Given the description of an element on the screen output the (x, y) to click on. 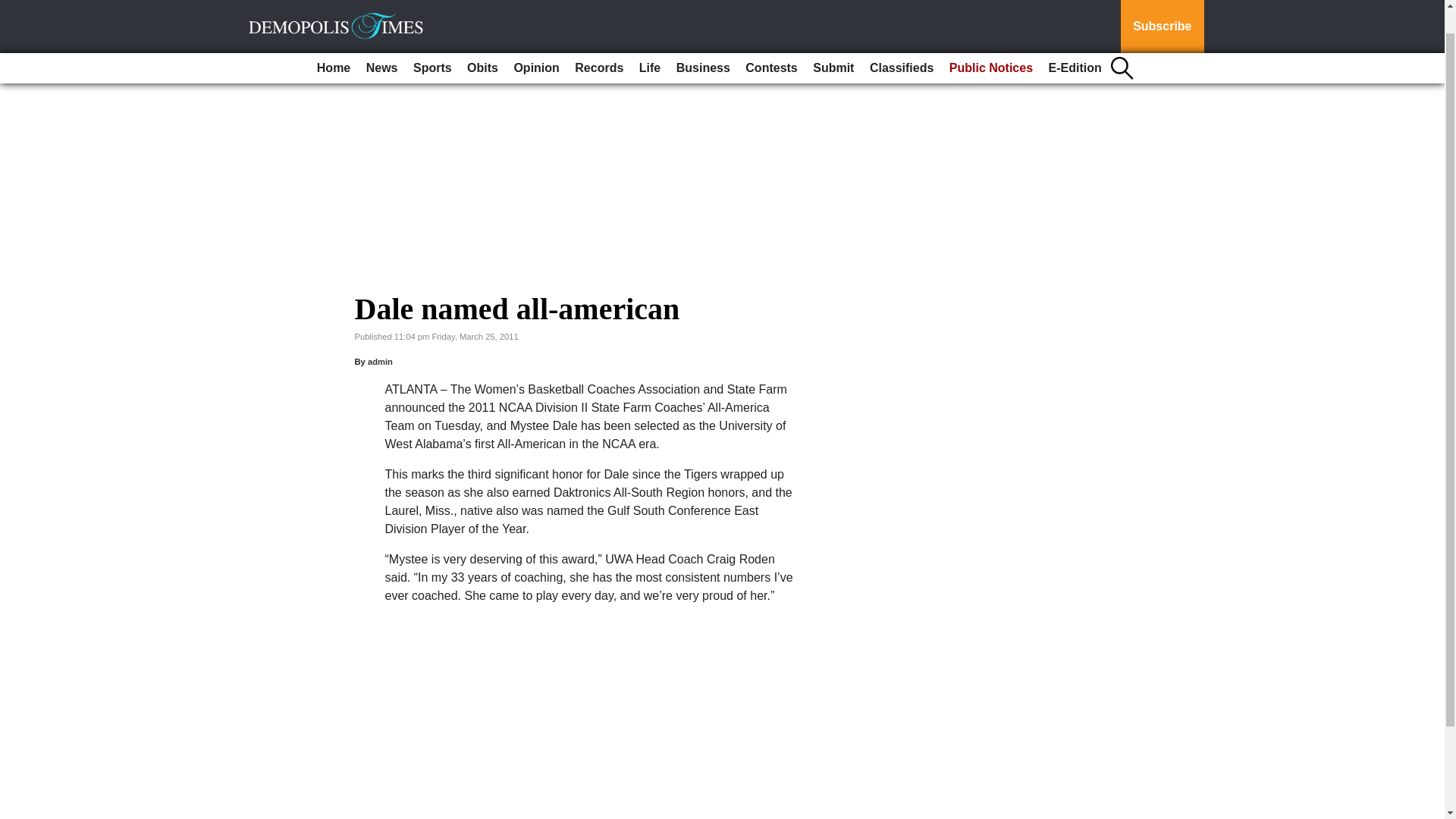
Sports (432, 41)
Public Notices (991, 41)
News (381, 41)
Subscribe (1162, 13)
Opinion (535, 41)
E-Edition (1075, 41)
admin (380, 361)
Business (702, 41)
Life (649, 41)
Submit (833, 41)
